Given the description of an element on the screen output the (x, y) to click on. 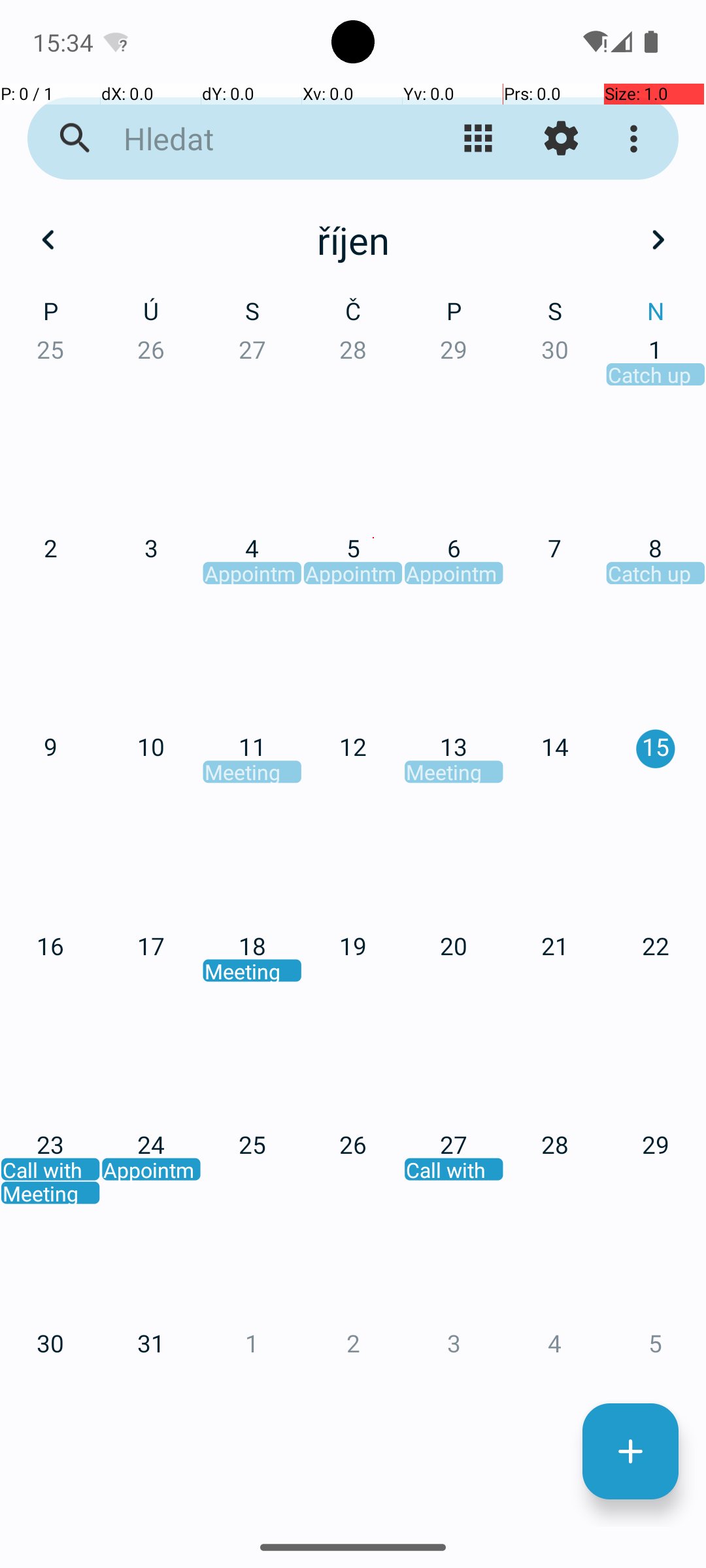
Hledat Element type: android.widget.EditText (252, 138)
Změnit zobrazení Element type: android.widget.Button (477, 138)
Nastavení Element type: android.widget.Button (560, 138)
Další možnosti Element type: android.widget.ImageView (636, 138)
Nová událost Element type: android.widget.ImageButton (630, 1451)
říjen Element type: android.widget.TextView (352, 239)
